Given the description of an element on the screen output the (x, y) to click on. 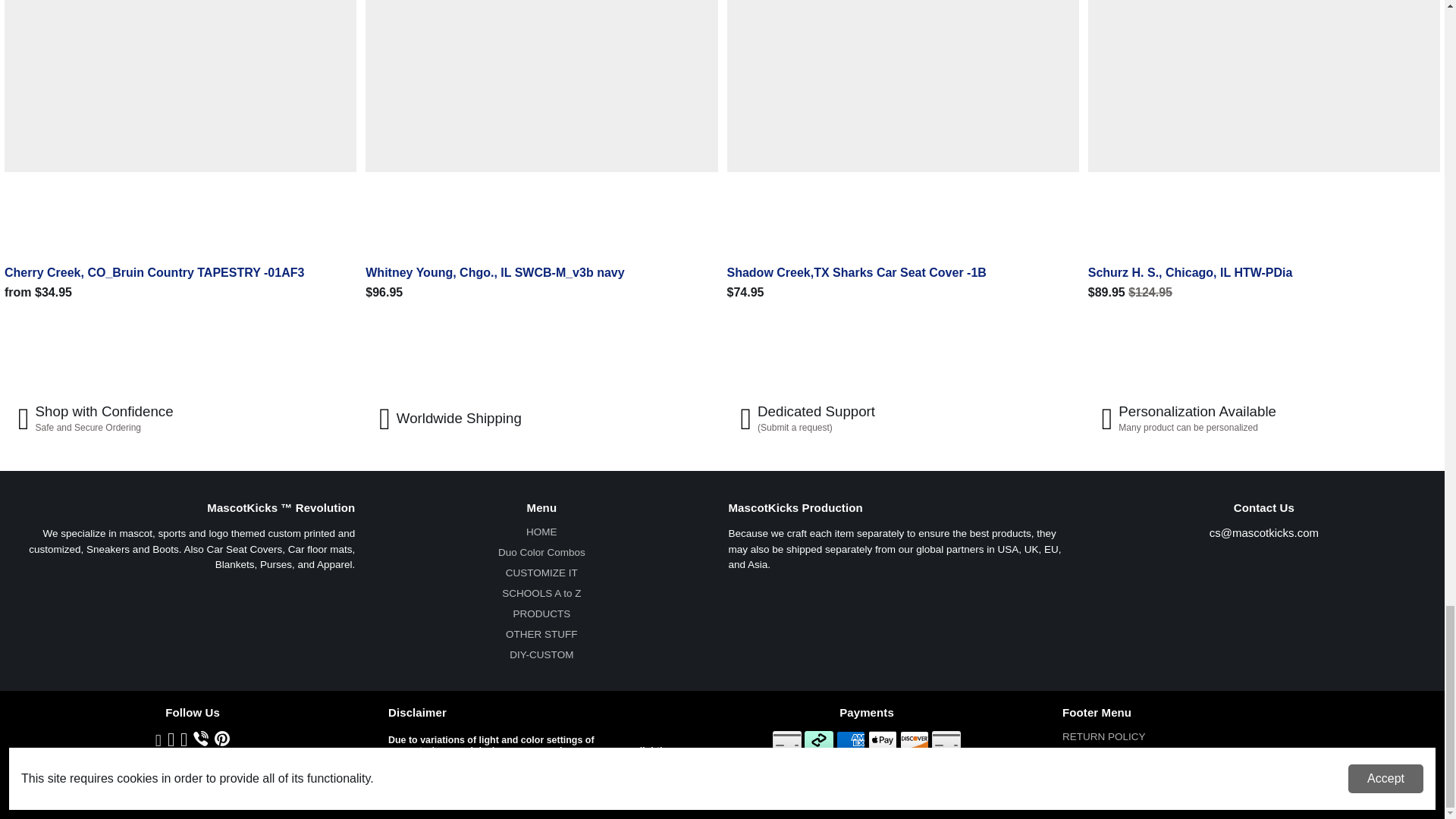
Afterpay (818, 740)
American Express (849, 740)
Discover (913, 740)
Generic (945, 740)
Generic (787, 740)
Apple Pay (881, 740)
